Given the description of an element on the screen output the (x, y) to click on. 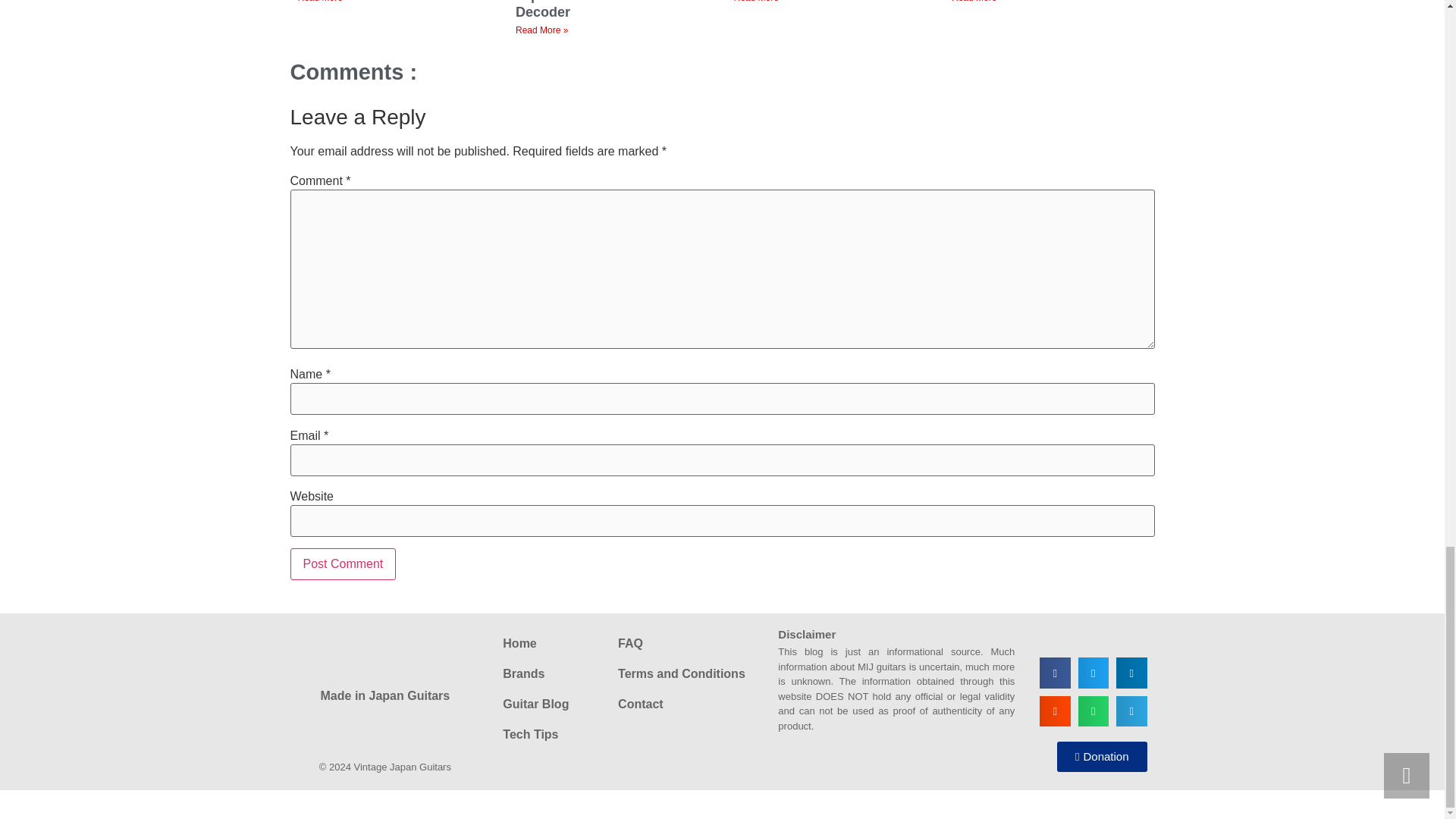
Post Comment (342, 563)
